Given the description of an element on the screen output the (x, y) to click on. 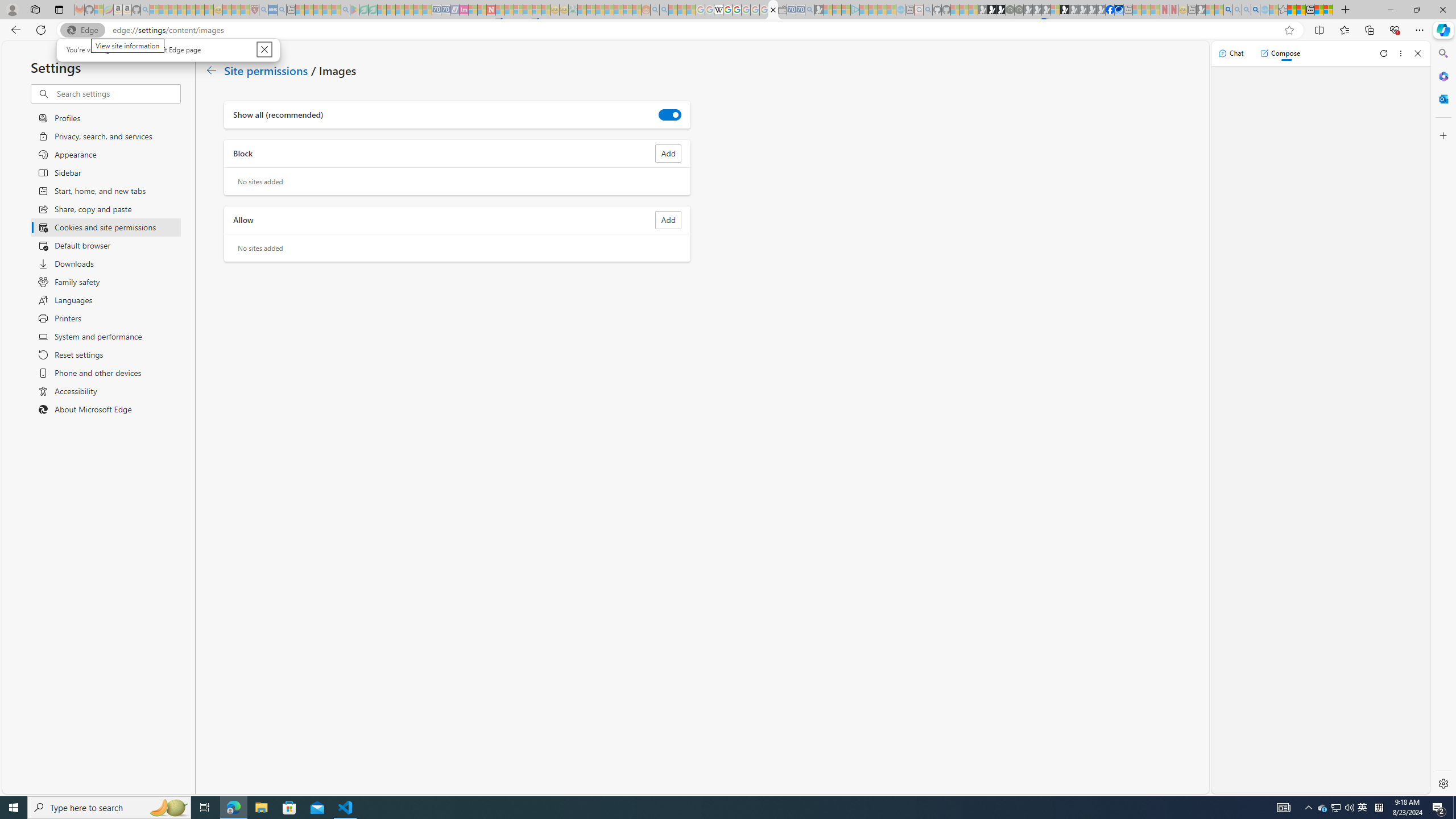
Google Chrome Internet Browser Download - Search Images (1255, 9)
Visual Studio Code - 1 running window (345, 807)
Task View (204, 807)
